Given the description of an element on the screen output the (x, y) to click on. 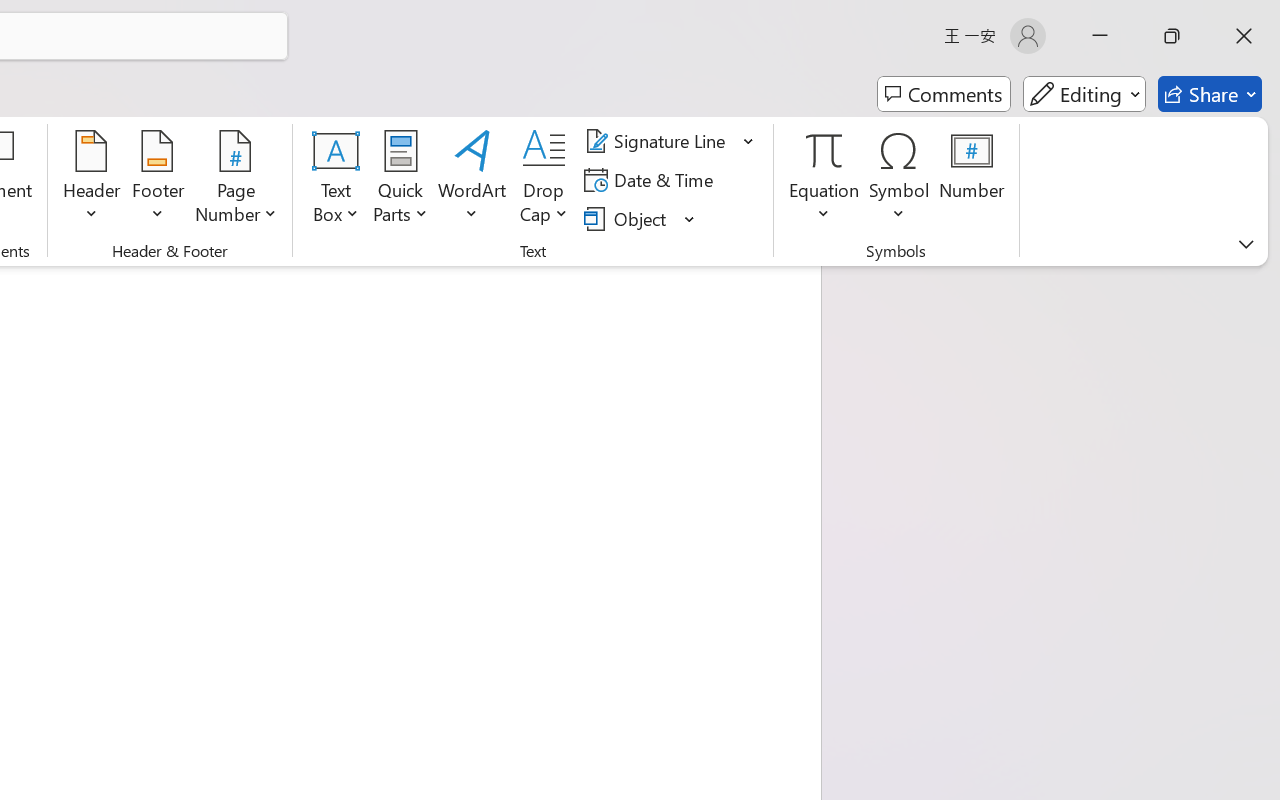
Restore Down (1172, 36)
Share (1210, 94)
Minimize (1099, 36)
Mode (1083, 94)
Comments (943, 94)
Close (1244, 36)
